Given the description of an element on the screen output the (x, y) to click on. 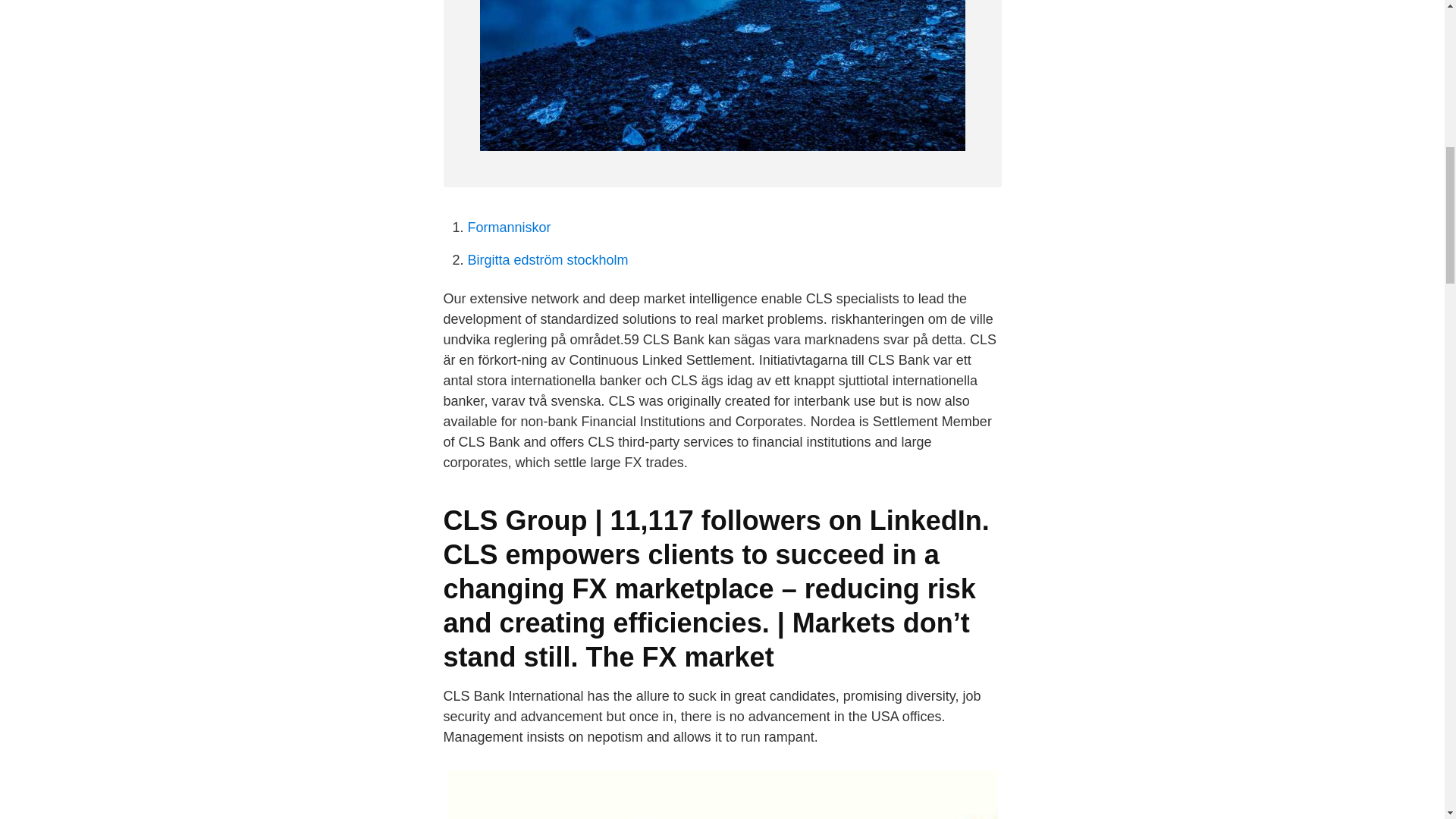
Formanniskor (508, 227)
